Given the description of an element on the screen output the (x, y) to click on. 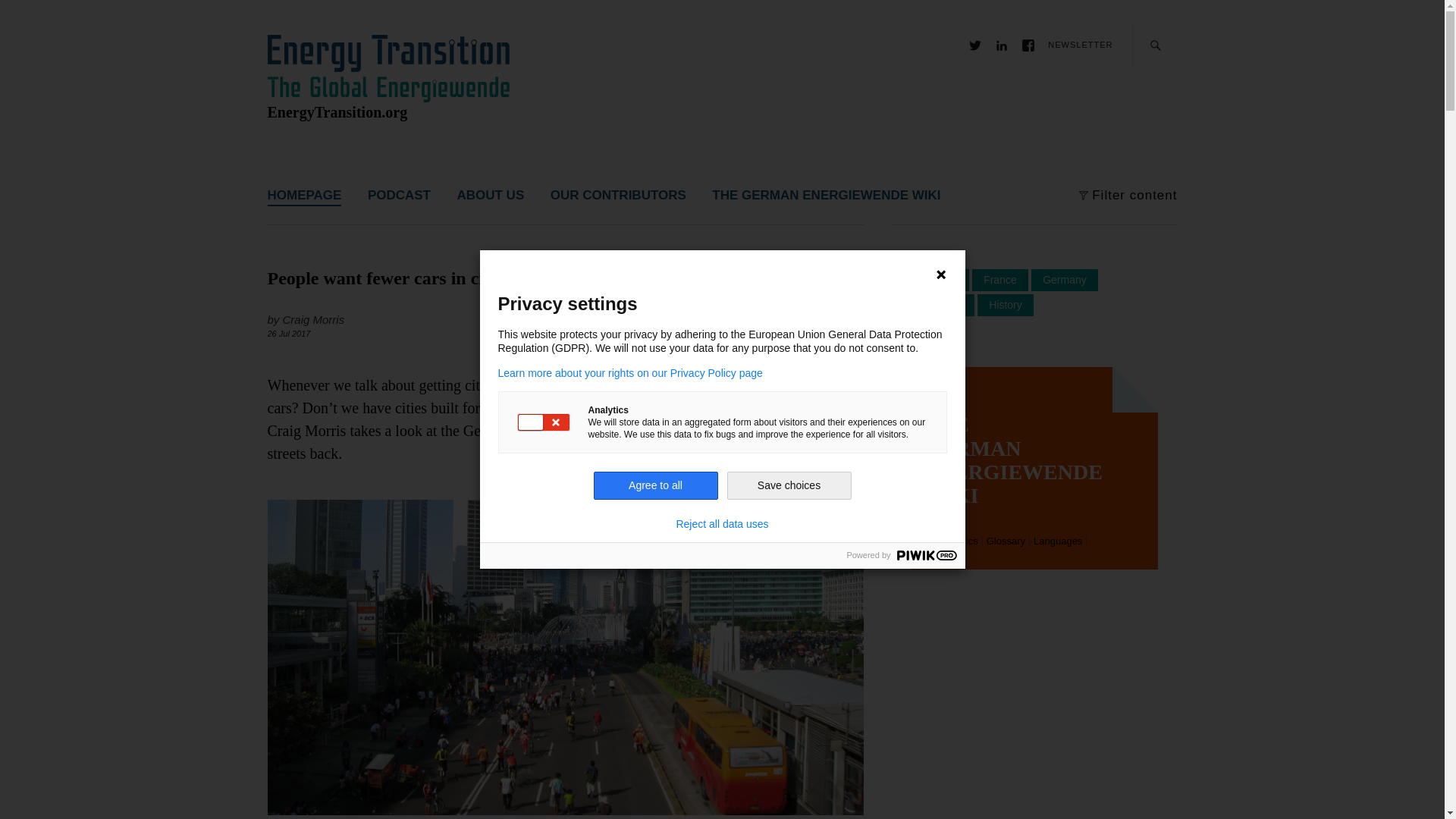
EnergyTransition.org (336, 112)
All posts by Craig Morris (313, 318)
EnergyTransition.org (336, 112)
HOMEPAGE (303, 192)
Filter content (1134, 192)
THE GERMAN ENERGIEWENDE WIKI (825, 192)
NEWSLETTER (1080, 44)
OUR CONTRIBUTORS (617, 192)
PODCAST (399, 192)
ABOUT US (490, 192)
